Given the description of an element on the screen output the (x, y) to click on. 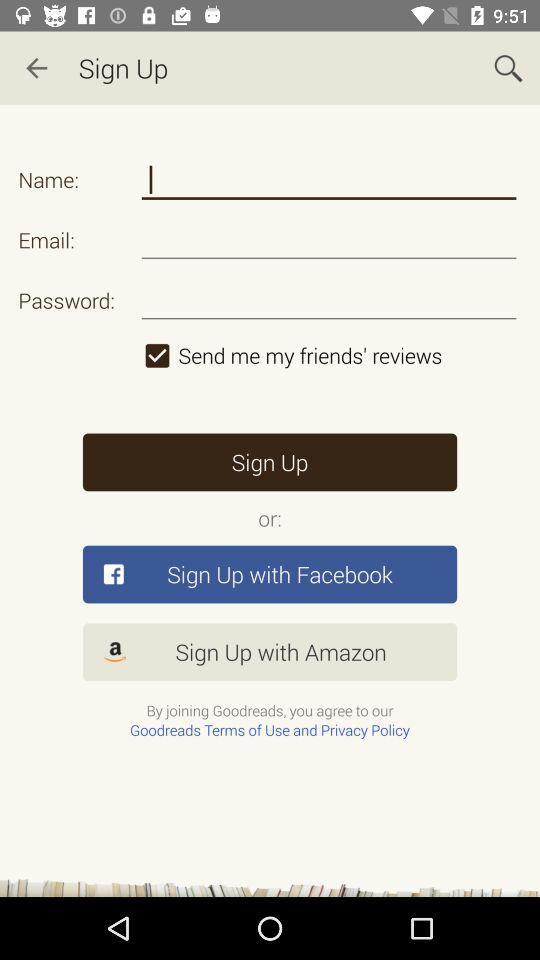
choose the item above email: item (328, 179)
